Given the description of an element on the screen output the (x, y) to click on. 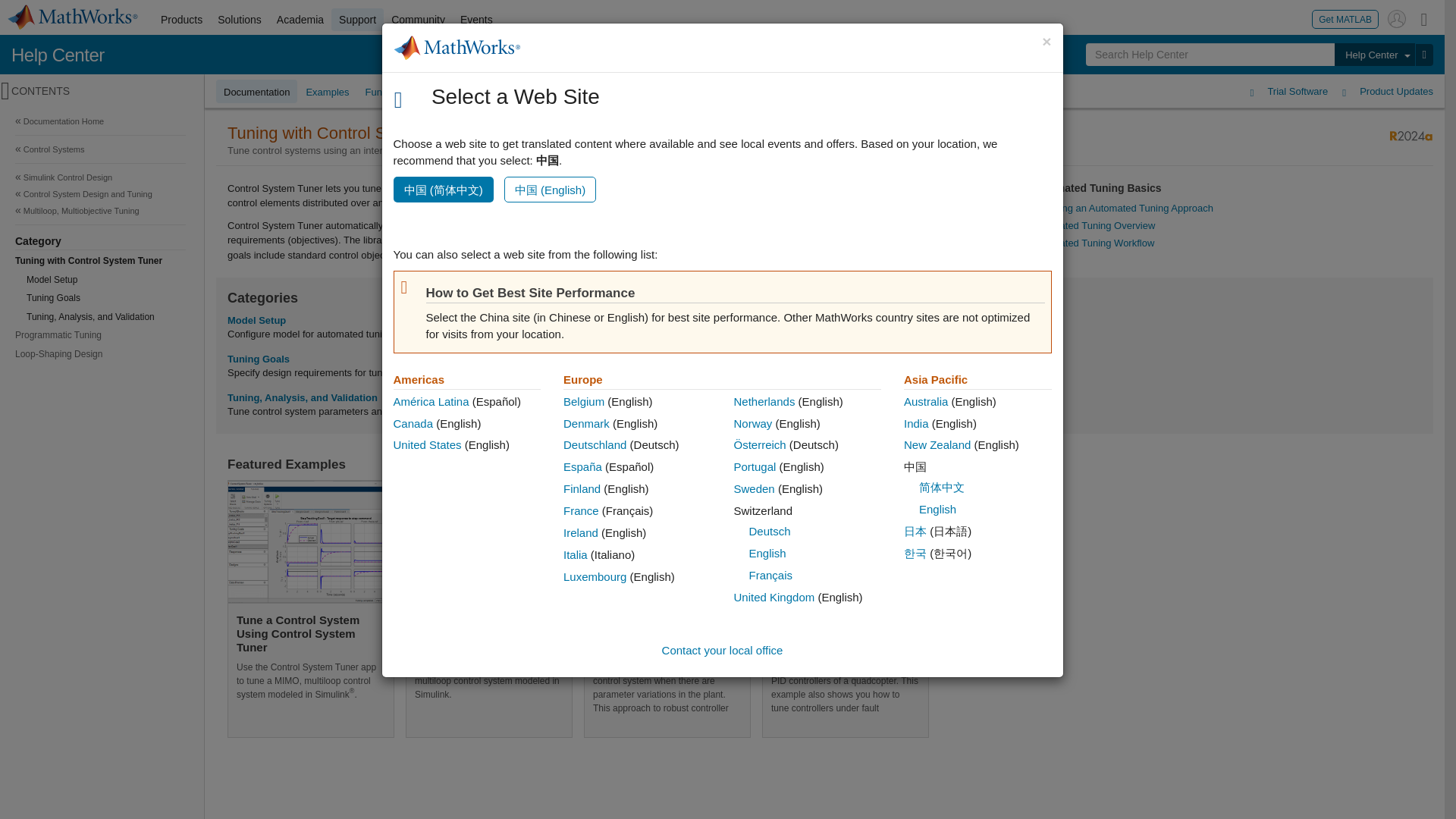
Get MATLAB (1344, 18)
Support (357, 19)
Community (418, 19)
Academia (300, 19)
Solutions (239, 19)
Products (180, 19)
Matrix Menu (1423, 18)
Sign In to Your MathWorks Account (1396, 18)
Events (476, 19)
